Given the description of an element on the screen output the (x, y) to click on. 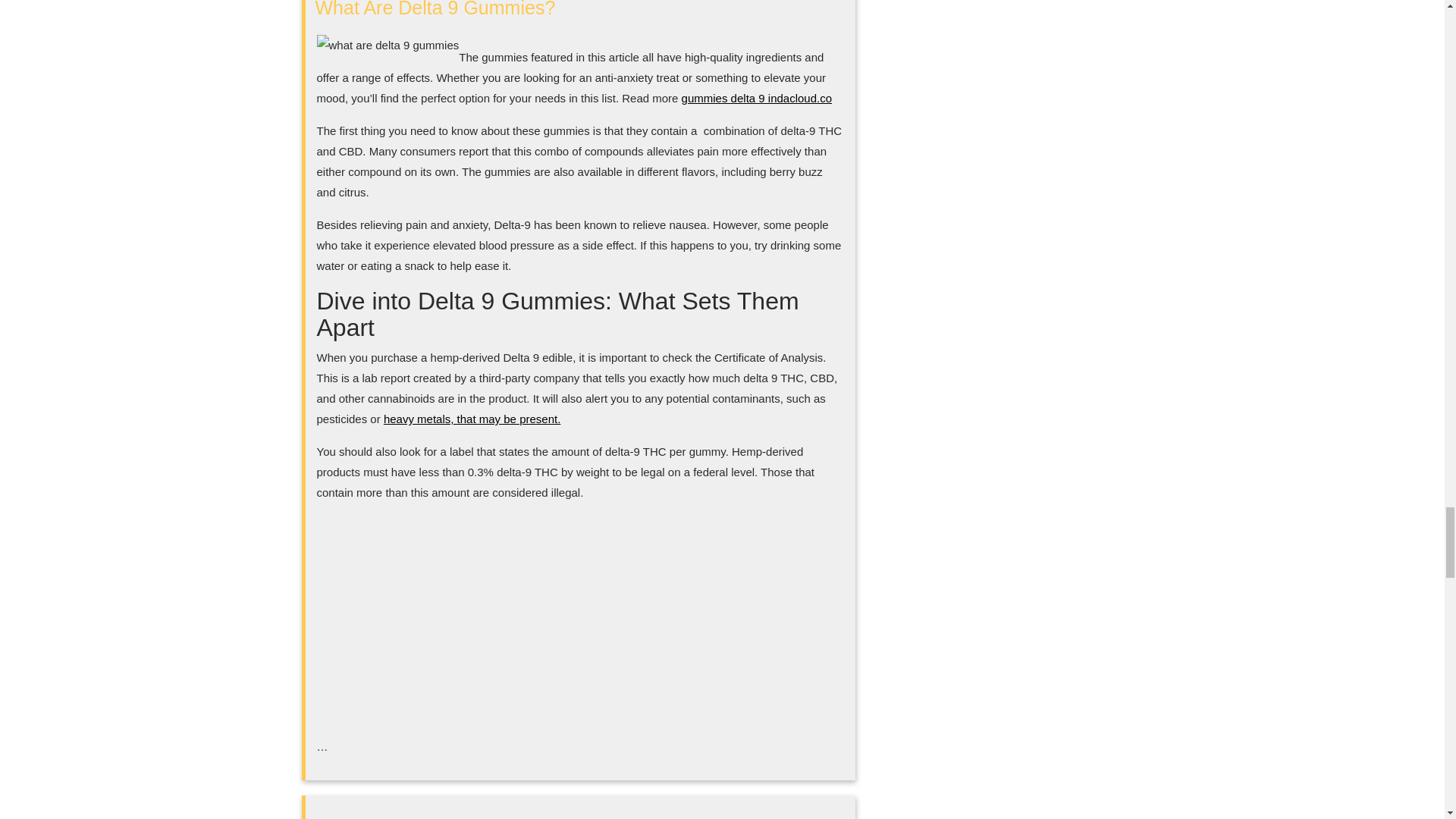
heavy metals, that may be present. (472, 418)
gummies delta 9 indacloud.co (756, 97)
What Are Delta 9 Gummies? (435, 9)
